Given the description of an element on the screen output the (x, y) to click on. 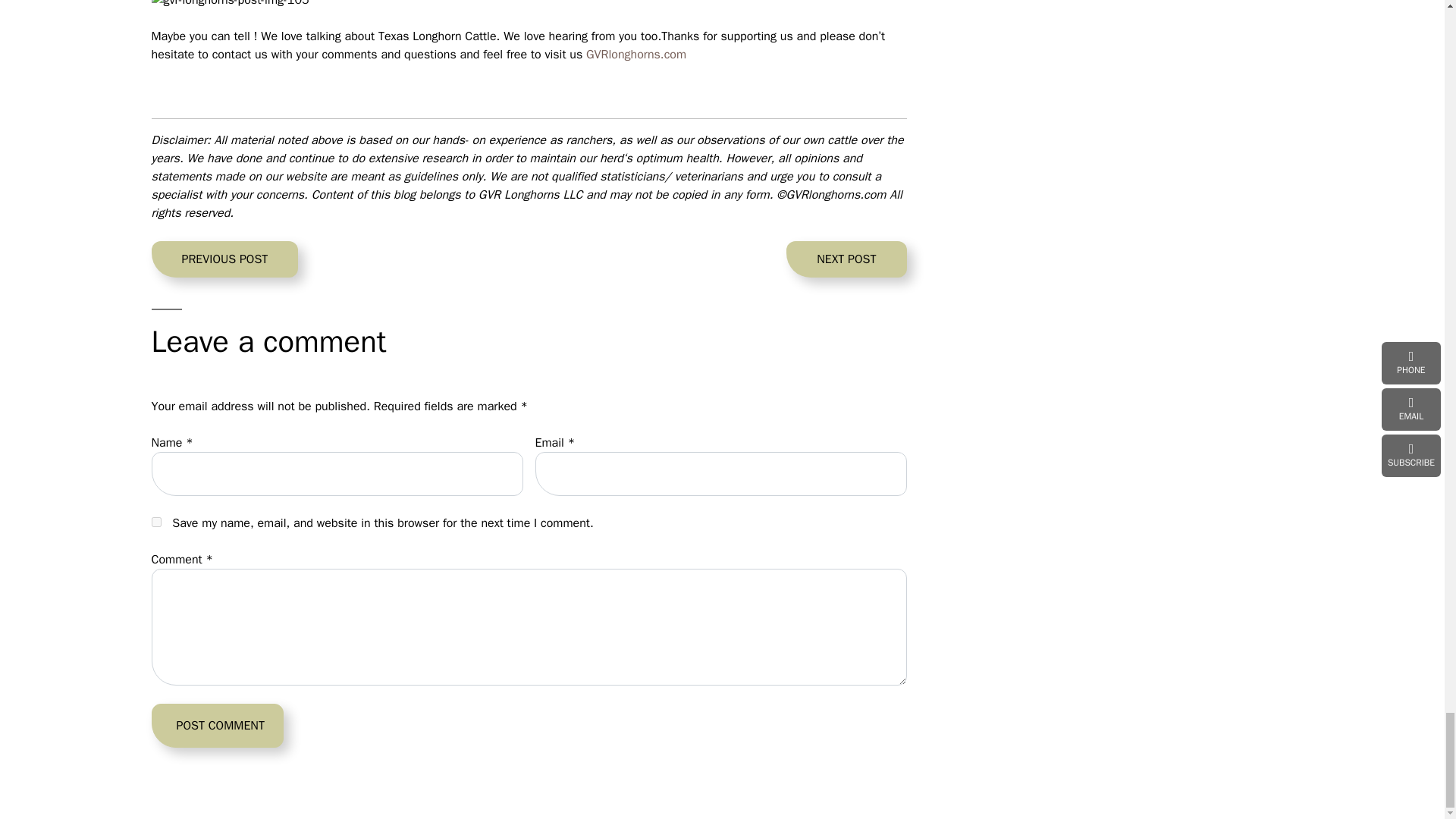
GVRlonghorns.com (635, 54)
Post Comment (224, 258)
yes (845, 258)
